Given the description of an element on the screen output the (x, y) to click on. 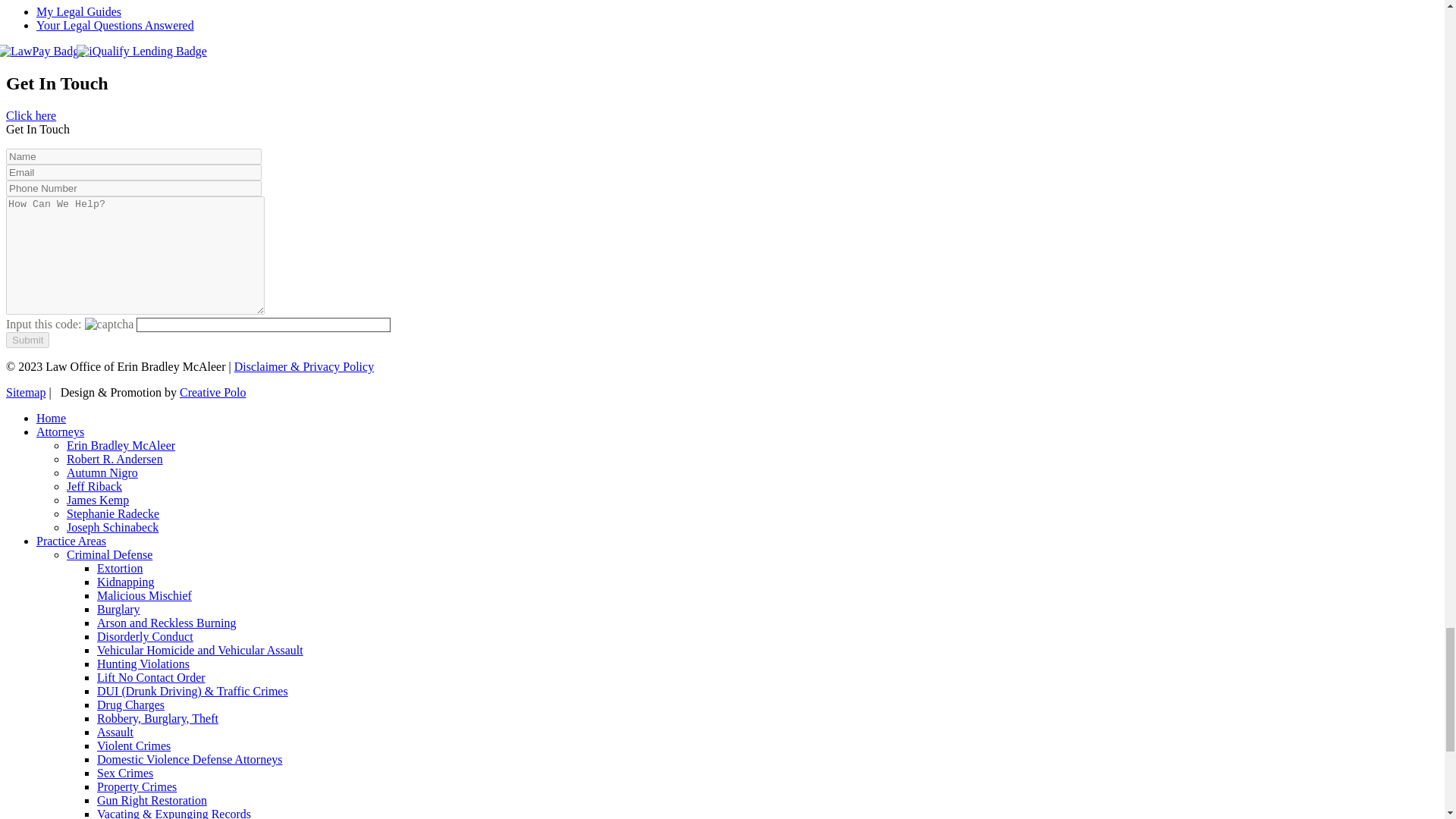
LawPay Badge (42, 51)
Lawpay link (44, 51)
link of Iqualify Lending (145, 51)
Submit (27, 340)
badge of Iqualify Lending (141, 51)
